Given the description of an element on the screen output the (x, y) to click on. 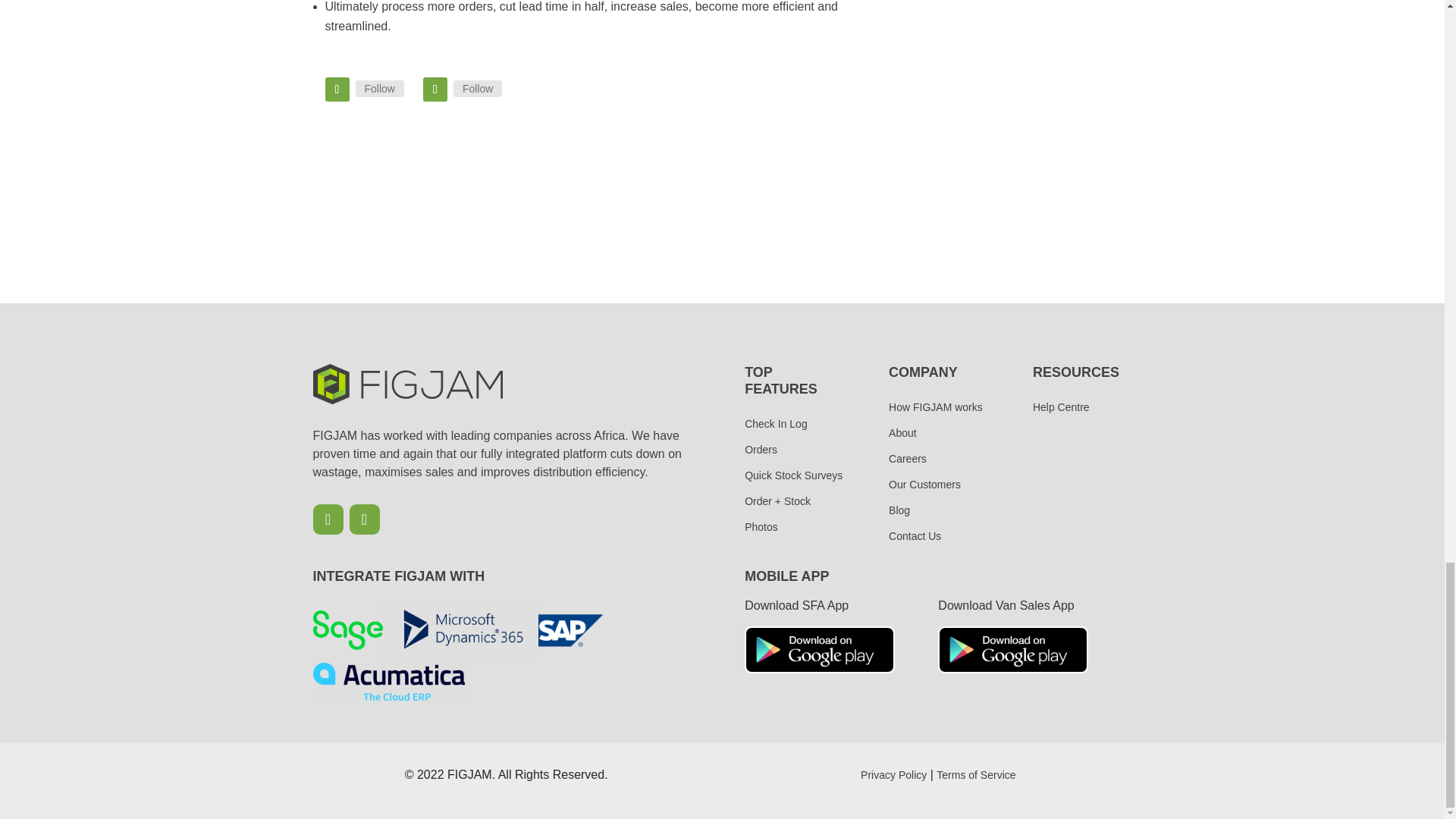
Logo-grey (407, 383)
Follow on LinkedIn (363, 519)
Follow on LinkedIn (434, 88)
Orders (793, 449)
Facebook (379, 88)
Check In Log (793, 423)
LinkedIn (477, 88)
Quick Stock Surveys (793, 475)
Follow on Facebook (327, 519)
Follow on Facebook (336, 88)
